Given the description of an element on the screen output the (x, y) to click on. 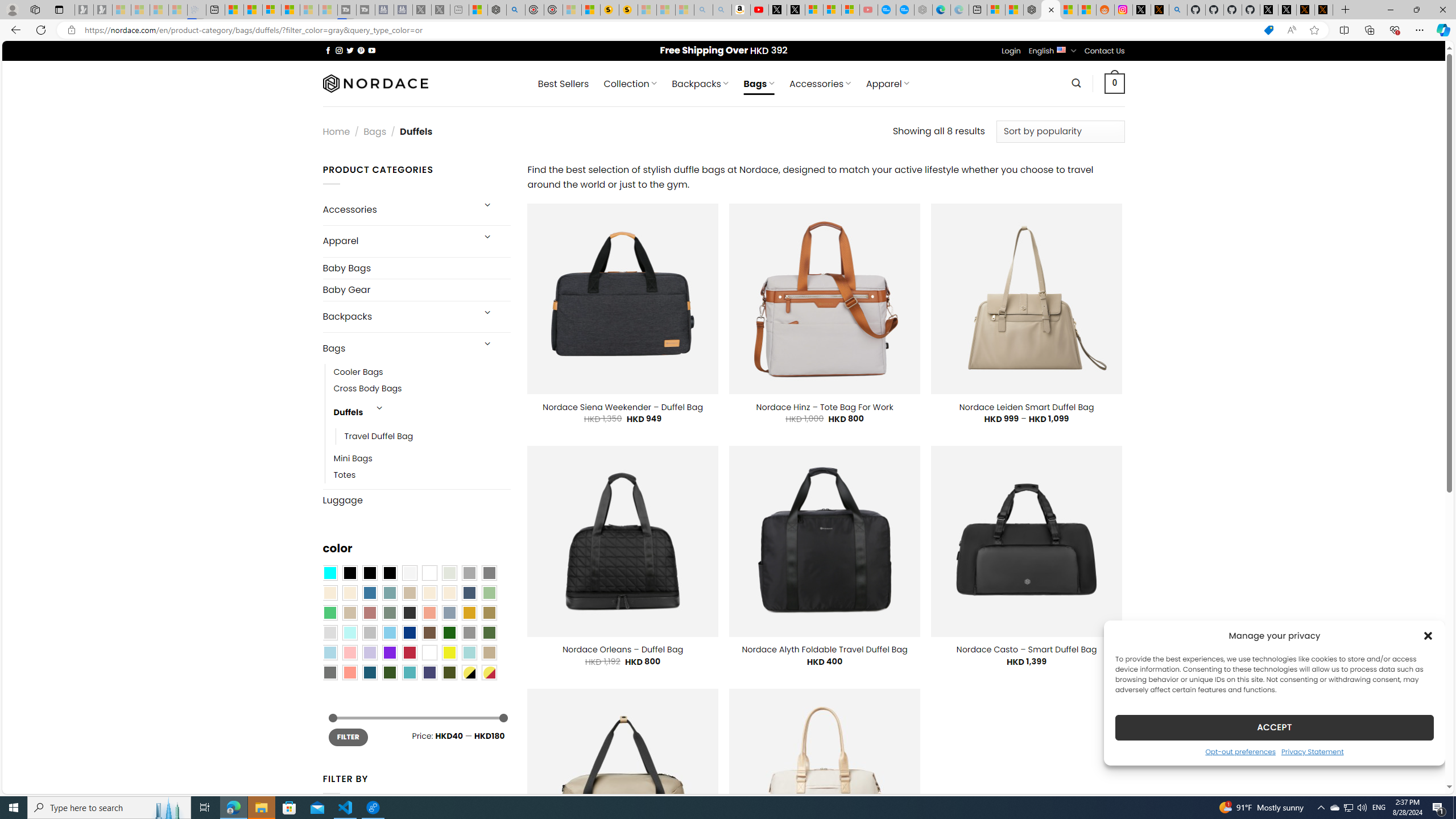
Aqua (468, 652)
Purple Navy (429, 672)
X Privacy Policy (1324, 9)
 Best Sellers (563, 83)
Kelp (488, 613)
Silver (369, 632)
Khaki (488, 652)
